Given the description of an element on the screen output the (x, y) to click on. 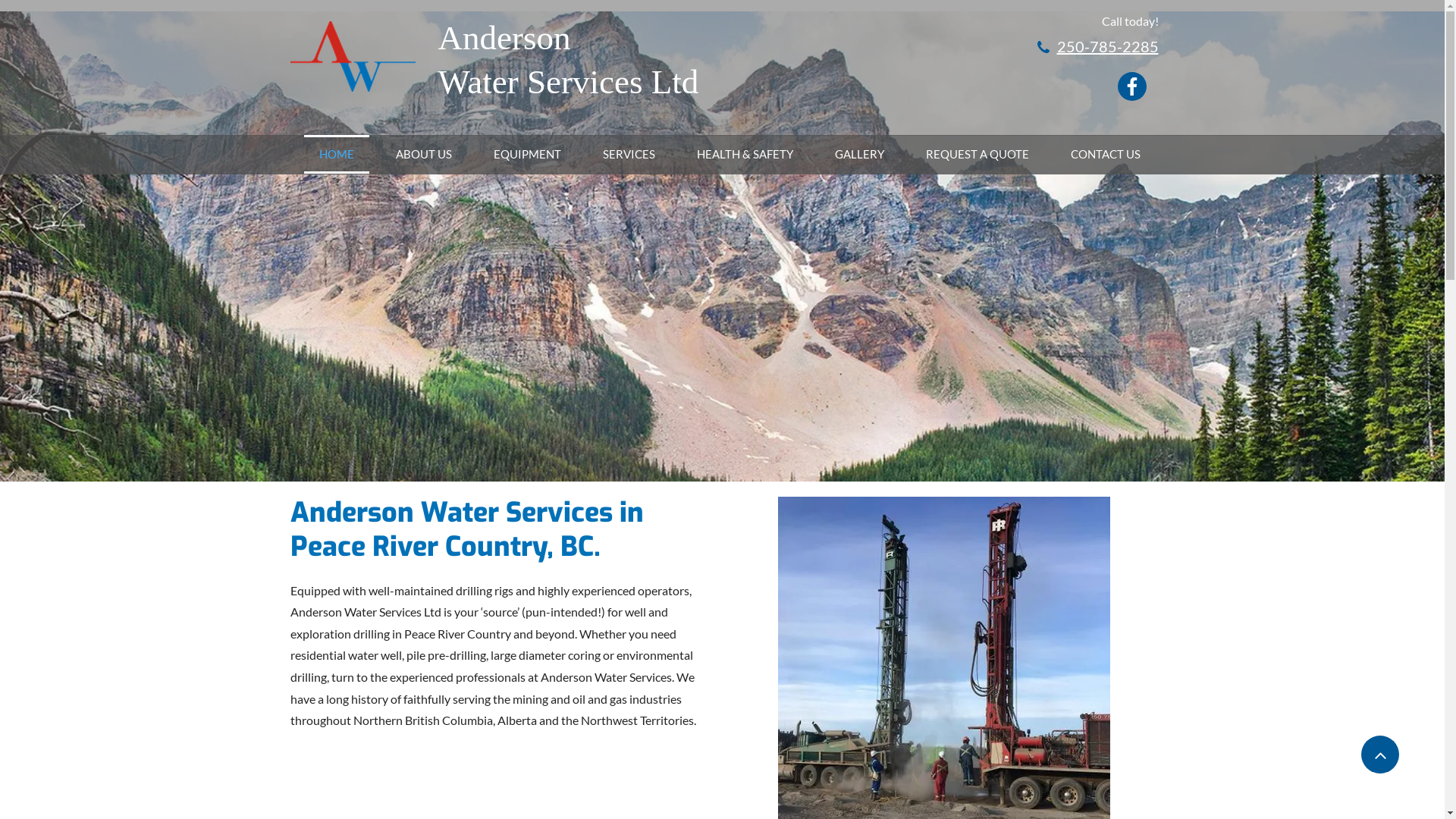
GALLERY Element type: text (858, 154)
Anderson Element type: text (504, 37)
HOME Element type: text (335, 154)
ABOUT US Element type: text (423, 154)
CONTACT US Element type: text (1105, 154)
250-785-2285 Element type: text (1106, 46)
SERVICES Element type: text (627, 154)
Water Services Ltd Element type: text (568, 81)
HEALTH & SAFETY Element type: text (743, 154)
REQUEST A QUOTE Element type: text (976, 154)
EQUIPMENT Element type: text (526, 154)
